Given the description of an element on the screen output the (x, y) to click on. 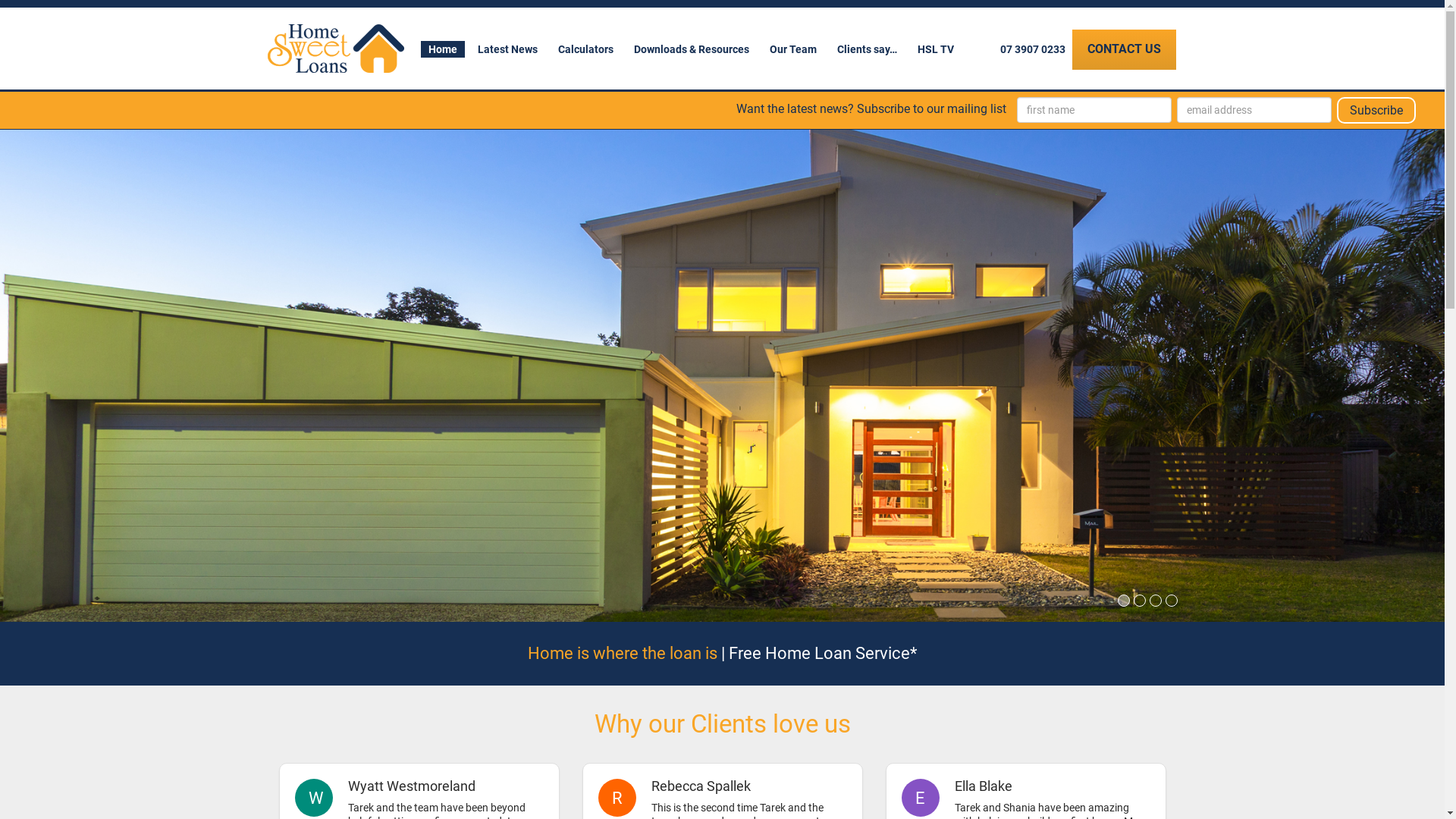
Subscribe Element type: text (1375, 110)
07 3907 0233 Element type: text (1031, 49)
Downloads & Resources Element type: text (691, 48)
Our Team Element type: text (792, 48)
Latest News Element type: text (507, 48)
HSL TV Element type: text (935, 48)
Calculators Element type: text (585, 48)
Home Element type: text (442, 48)
CONTACT US Element type: text (1123, 49)
Home Sweet Loans Element type: text (334, 48)
